Given the description of an element on the screen output the (x, y) to click on. 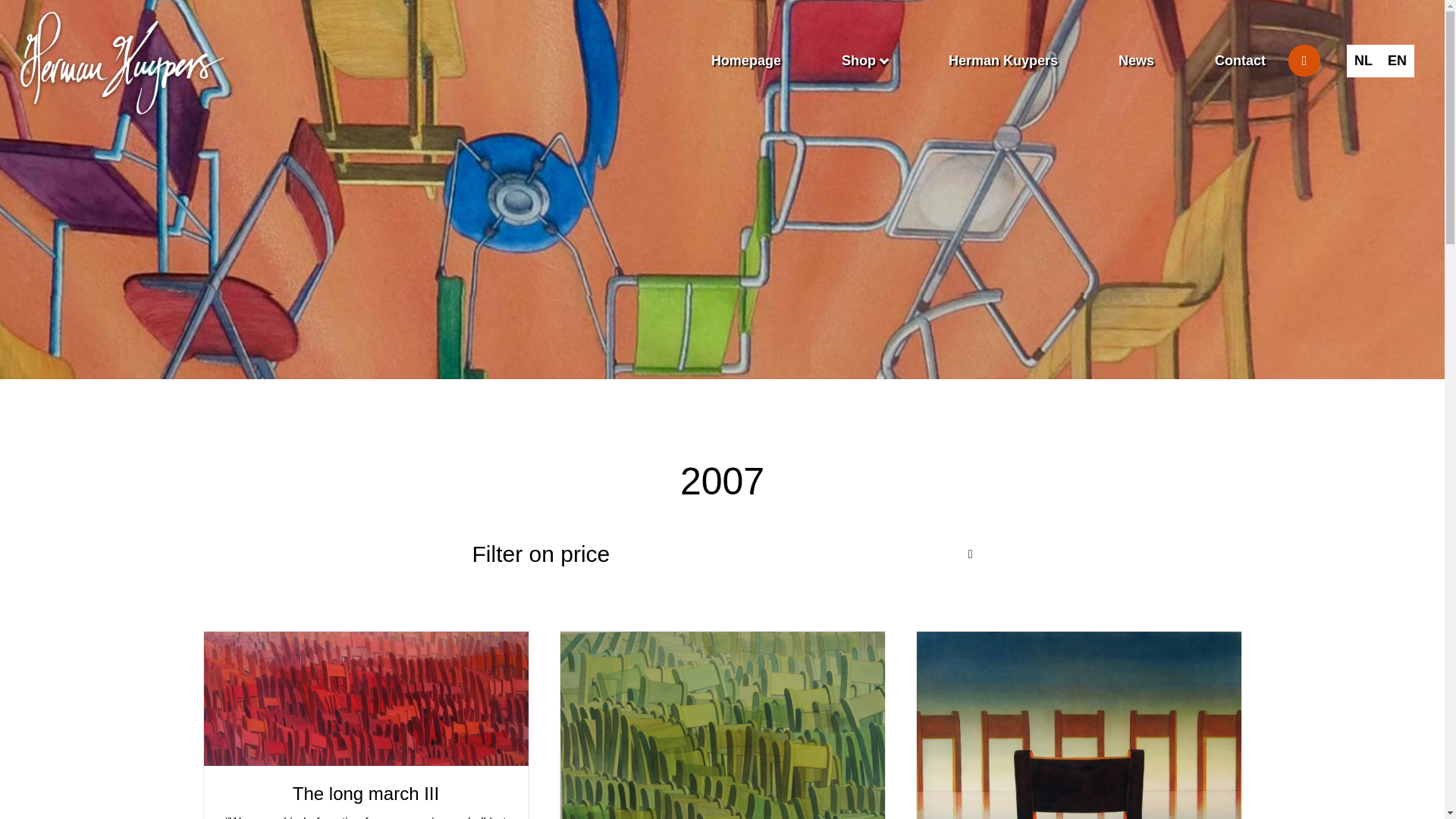
The long march III (365, 697)
To reflect (1077, 755)
Herman Kuypers (1002, 60)
The long march III (365, 792)
News (1135, 60)
header-logo (122, 64)
EN (1396, 60)
Shop (864, 60)
The long march III (365, 792)
The long march (721, 744)
Homepage (746, 60)
NL (1363, 60)
NL (1363, 60)
EN (1396, 60)
Contact (1239, 60)
